Given the description of an element on the screen output the (x, y) to click on. 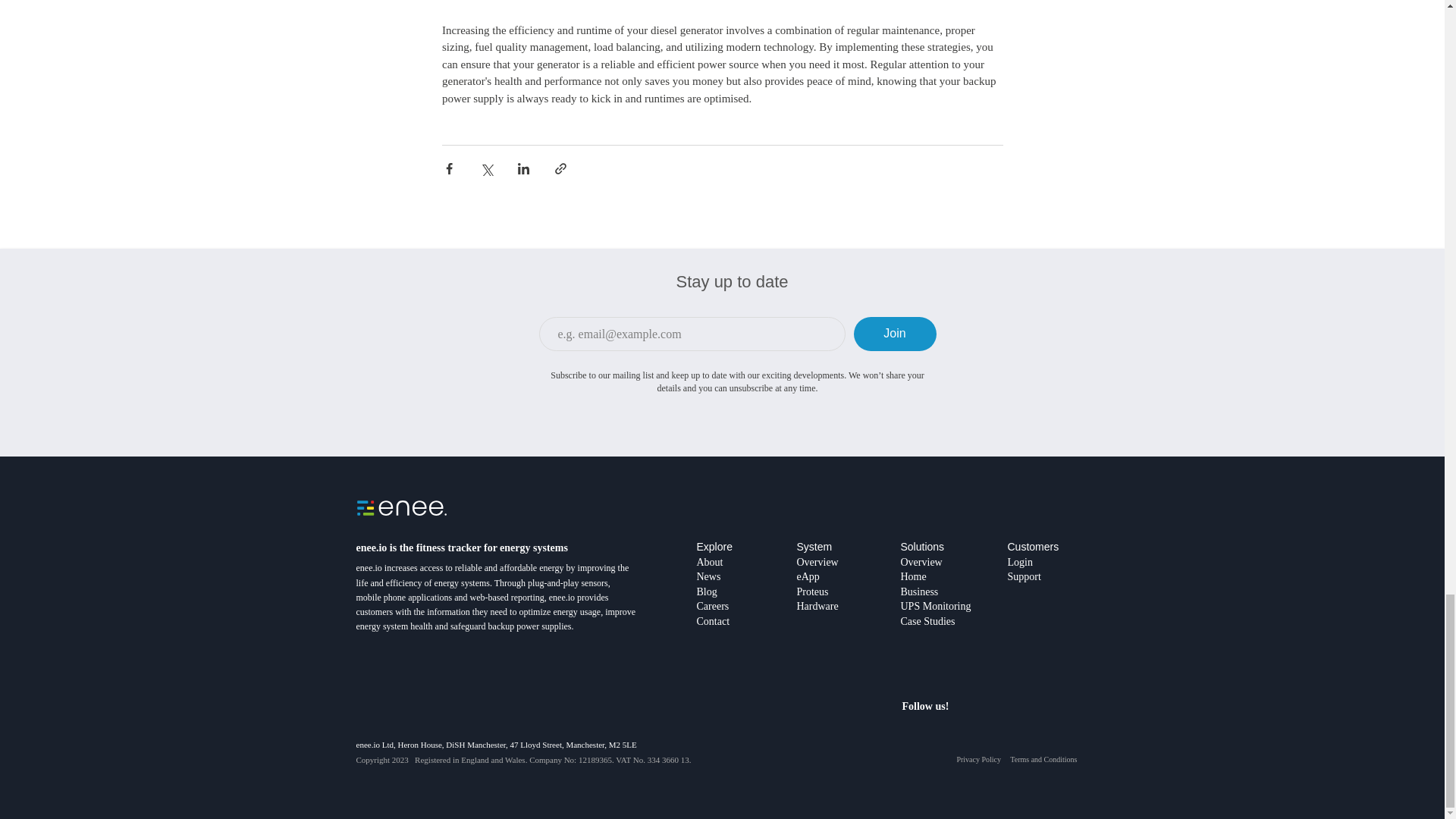
Proteus (812, 591)
Case Studies (928, 621)
Contact (712, 628)
Hardware (817, 605)
Home (913, 576)
eApp (807, 576)
Business (920, 591)
Overview (921, 562)
About (708, 562)
UPS Monitoring (936, 605)
